Given the description of an element on the screen output the (x, y) to click on. 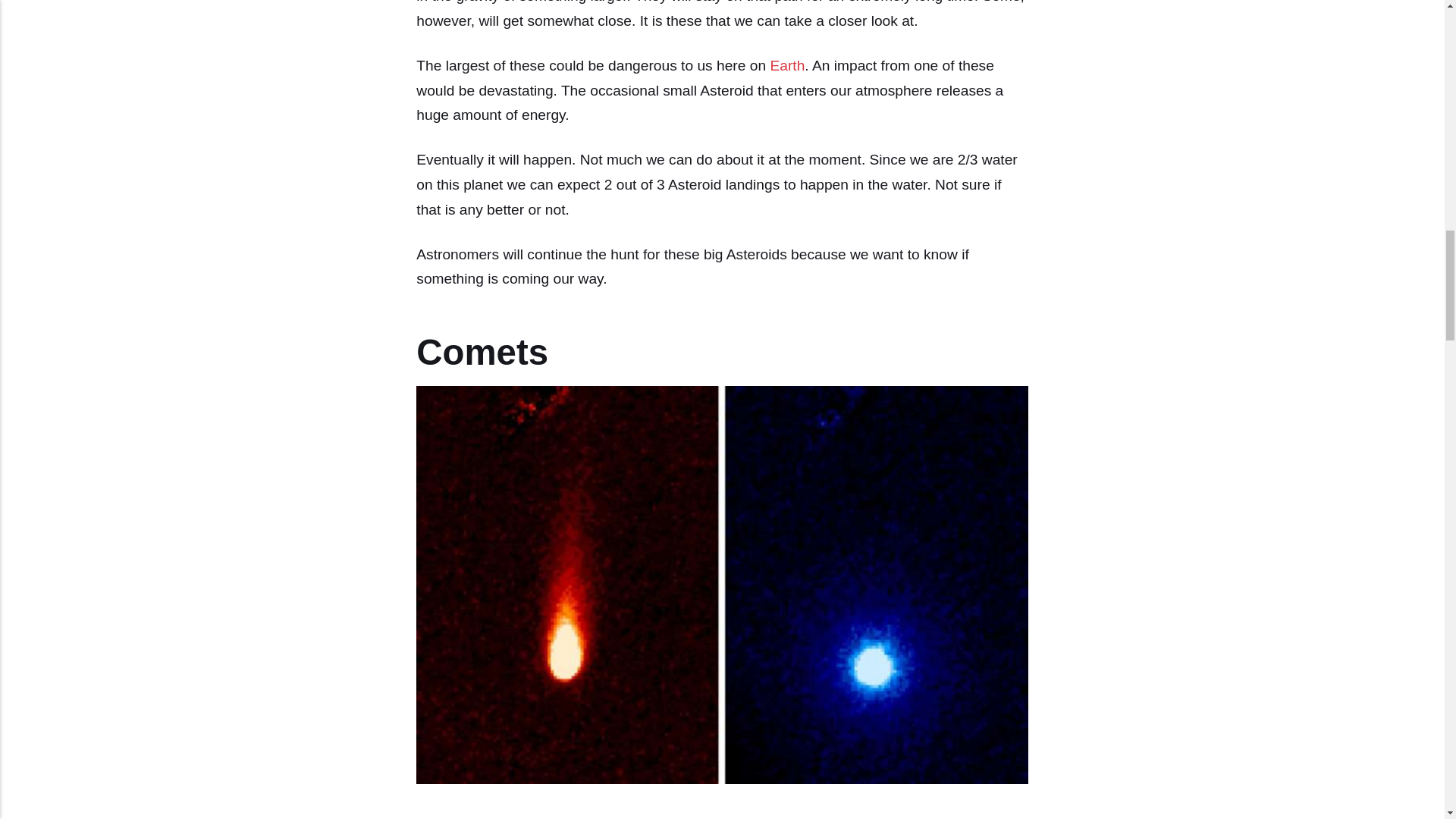
Earth (787, 65)
